Given the description of an element on the screen output the (x, y) to click on. 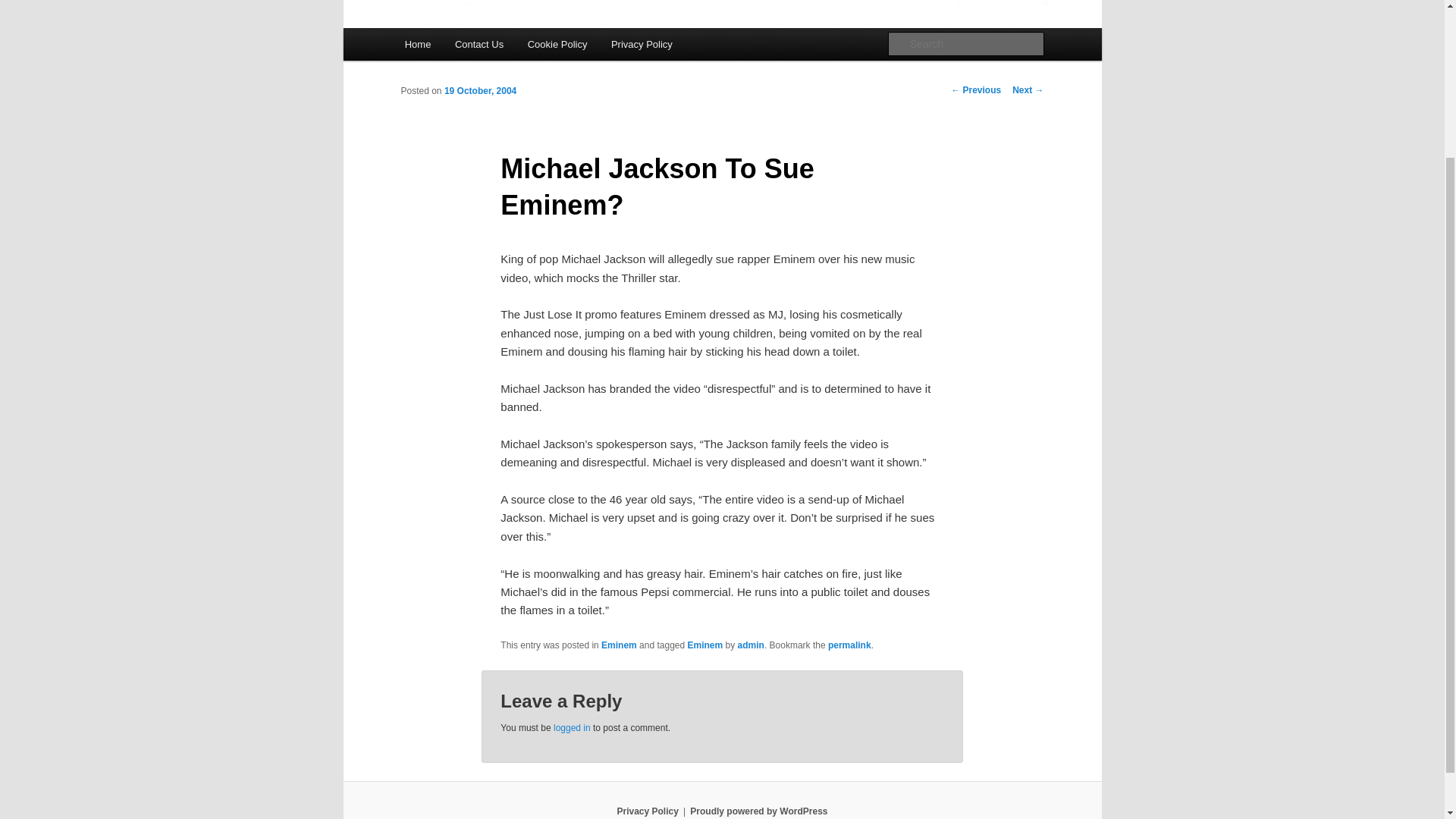
Privacy Policy (646, 810)
Cookie Policy (556, 43)
admin (751, 644)
Privacy Policy (641, 43)
Contact Us (478, 43)
Home (417, 43)
5:00 am (480, 90)
logged in (572, 727)
Eminem (619, 644)
Semantic Personal Publishing Platform (758, 810)
permalink (849, 644)
Permalink to Michael Jackson To Sue Eminem? (849, 644)
Proudly powered by WordPress (758, 810)
19 October, 2004 (480, 90)
Eminem (705, 644)
